Given the description of an element on the screen output the (x, y) to click on. 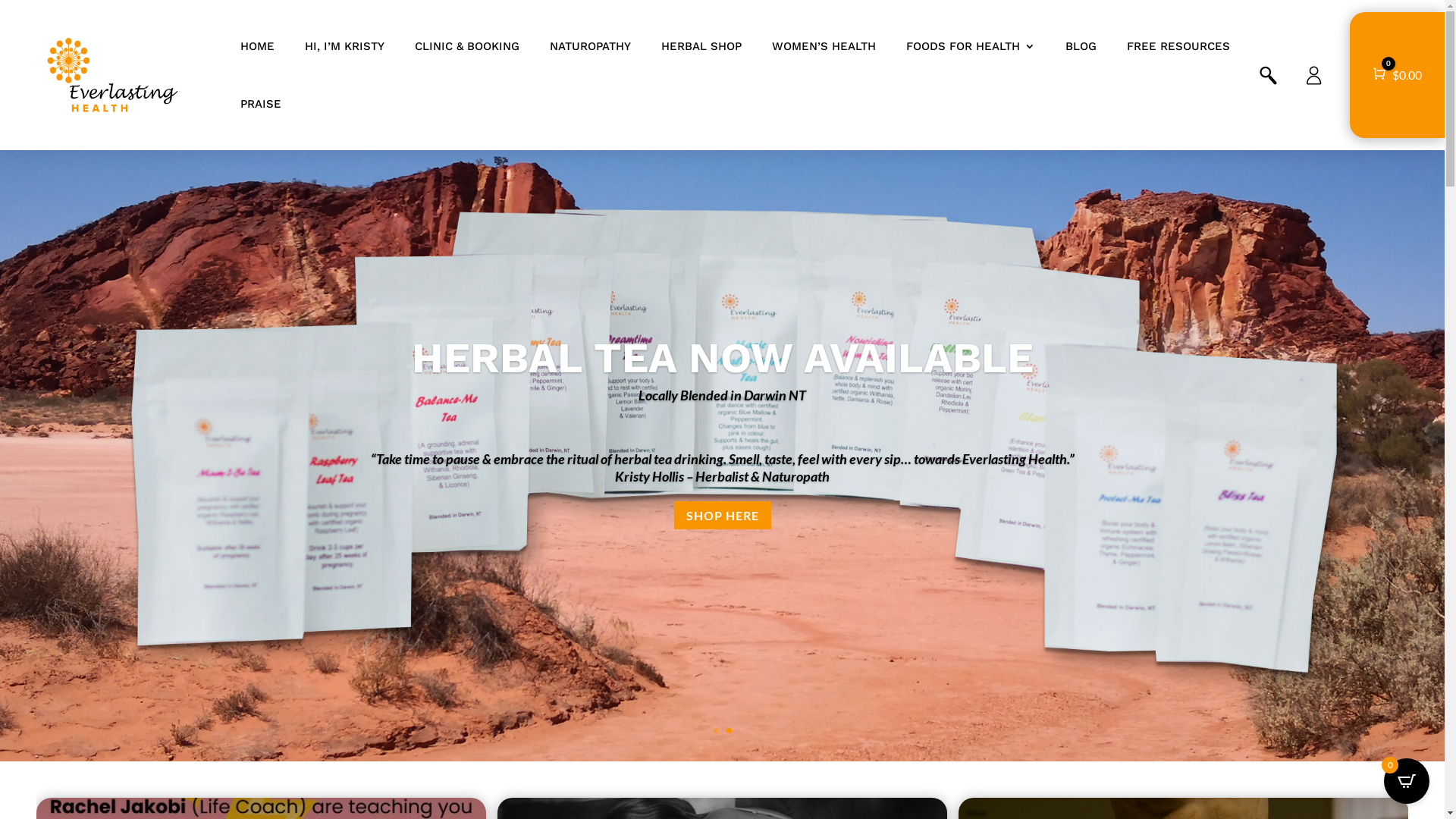
NATUROPATHY Element type: text (589, 46)
HOME Element type: text (257, 46)
search Element type: hover (1267, 74)
2 Element type: text (728, 730)
SHOP HERE Element type: text (721, 555)
user-account Element type: hover (1313, 74)
FOODS FOR HEALTH Element type: text (970, 46)
BLOG Element type: text (1080, 46)
PRAISE Element type: text (260, 103)
CLINIC & BOOKING Element type: text (466, 46)
HERBAL TEA NOW AVAILABLE Element type: text (721, 400)
1 Element type: text (715, 730)
0 Element type: text (1406, 780)
FREE RESOURCES Element type: text (1178, 46)
HERBAL SHOP Element type: text (701, 46)
